Given the description of an element on the screen output the (x, y) to click on. 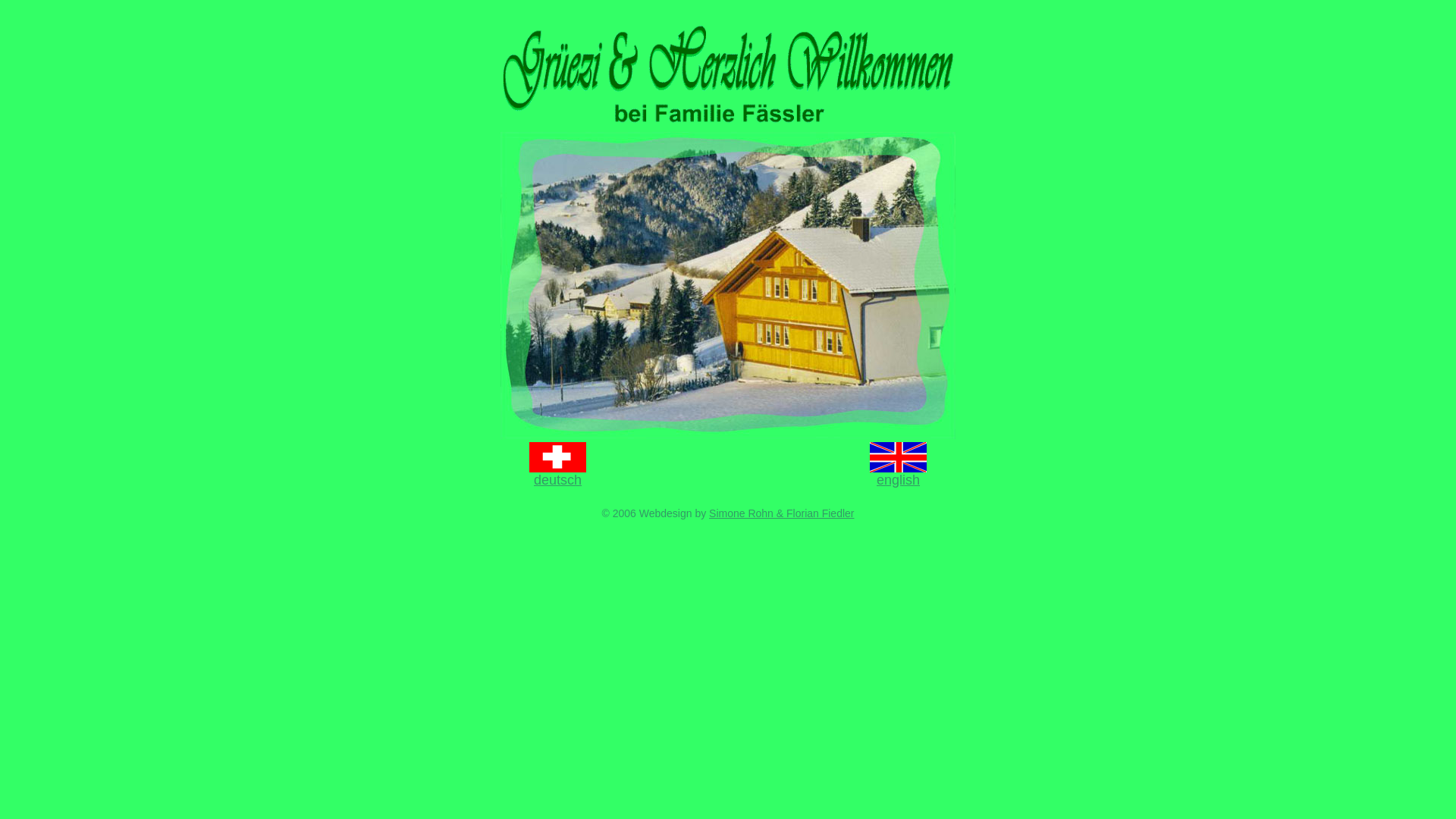
deutsch Element type: text (557, 479)
Simone Rohn & Florian Fiedler Element type: text (781, 513)
english Element type: text (897, 479)
